Given the description of an element on the screen output the (x, y) to click on. 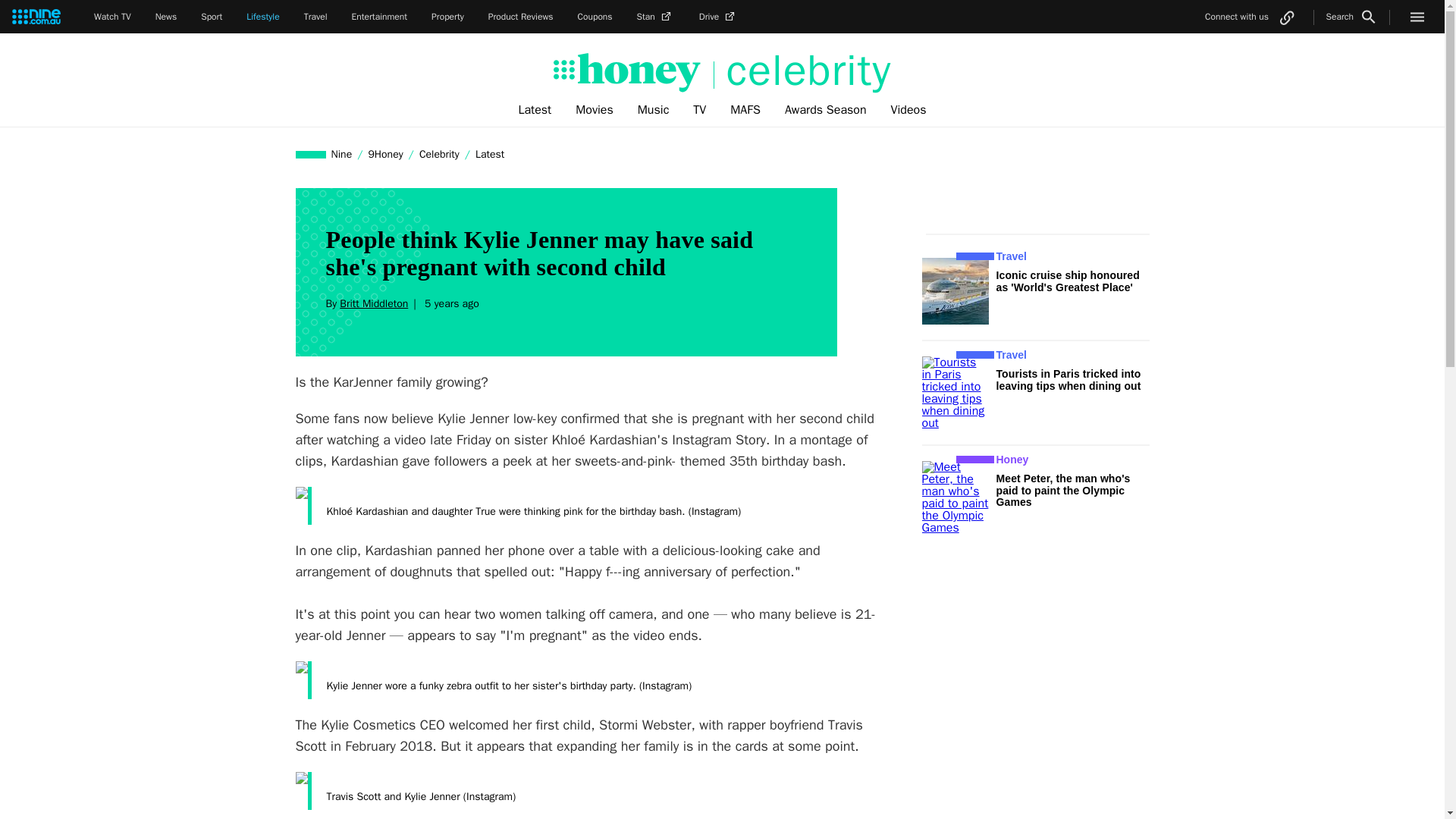
Movies (594, 109)
MAFS (745, 109)
Coupons (595, 16)
Nine (342, 154)
Videos (909, 109)
2019-06-29 01:35 (449, 303)
Property (447, 16)
Entertainment (379, 16)
Product Reviews (520, 16)
celebrity (802, 71)
Latest (534, 109)
9Honey (384, 154)
Celebrity (438, 154)
Watch TV (112, 16)
Britt Middleton (373, 303)
